Given the description of an element on the screen output the (x, y) to click on. 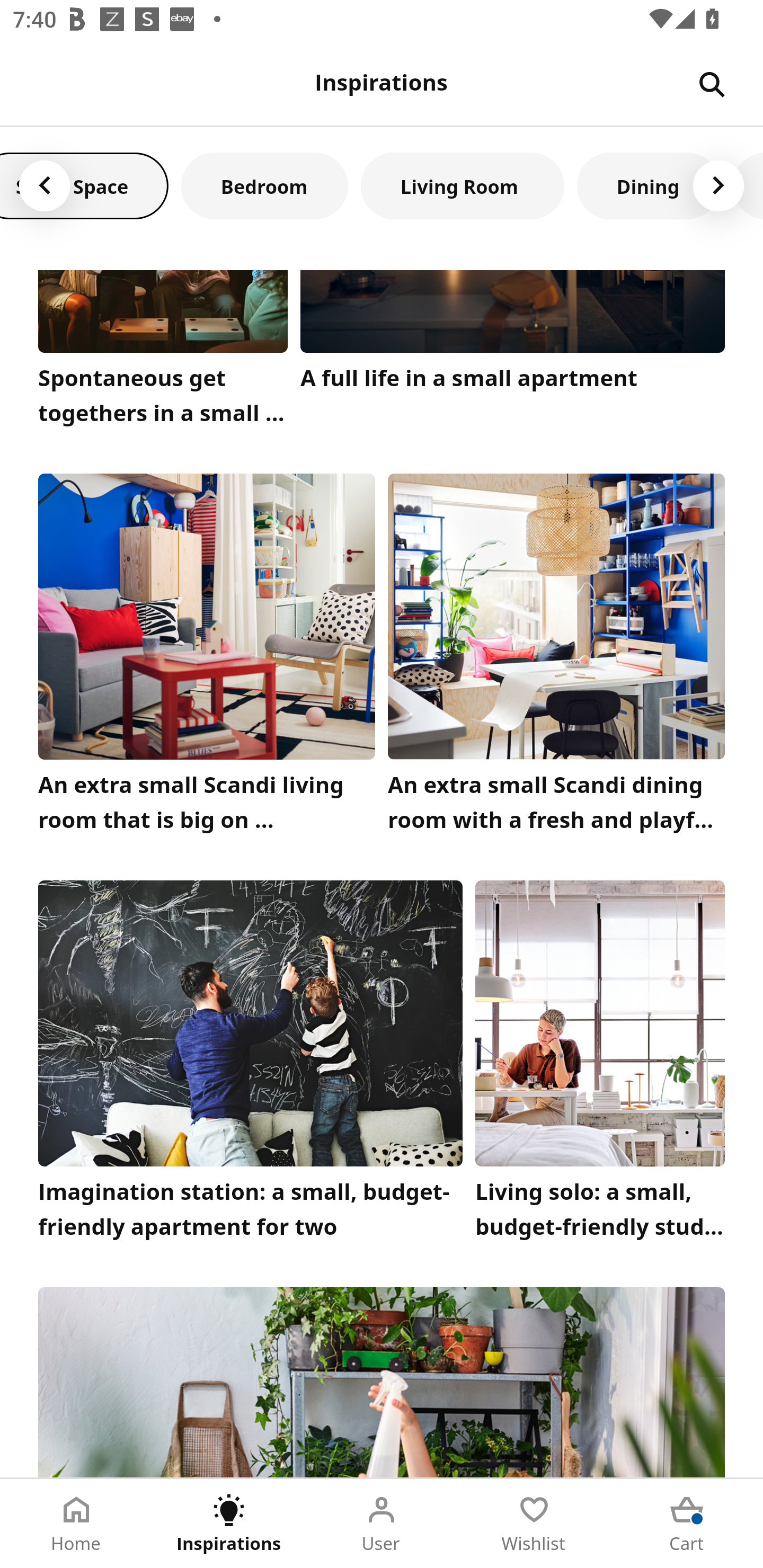
Bedroom (264, 185)
Living Room  (462, 185)
Dining (648, 185)
Spontaneous get togethers in a small apartment (162, 352)
A full life in a small apartment (512, 352)
Home
Tab 1 of 5 (76, 1522)
Inspirations
Tab 2 of 5 (228, 1522)
User
Tab 3 of 5 (381, 1522)
Wishlist
Tab 4 of 5 (533, 1522)
Cart
Tab 5 of 5 (686, 1522)
